Given the description of an element on the screen output the (x, y) to click on. 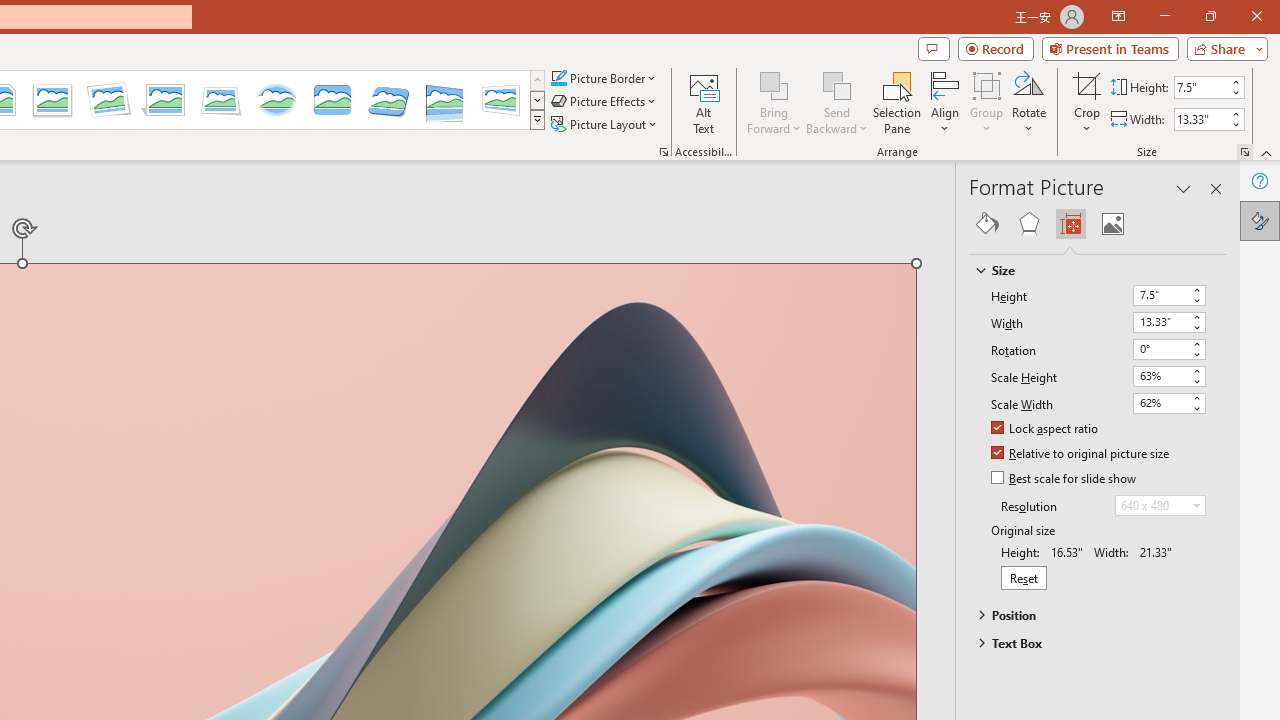
Record (995, 48)
Send Backward (836, 84)
Row up (537, 79)
Quick Styles (537, 120)
Size & Properties (1070, 223)
Picture Border (603, 78)
Picture Layout (605, 124)
Width (1168, 321)
Close pane (1215, 188)
Picture Effects (605, 101)
Send Backward (836, 102)
Help (1260, 180)
Bevel Perspective Left, White (500, 100)
Crop (1087, 84)
Less (1235, 124)
